Given the description of an element on the screen output the (x, y) to click on. 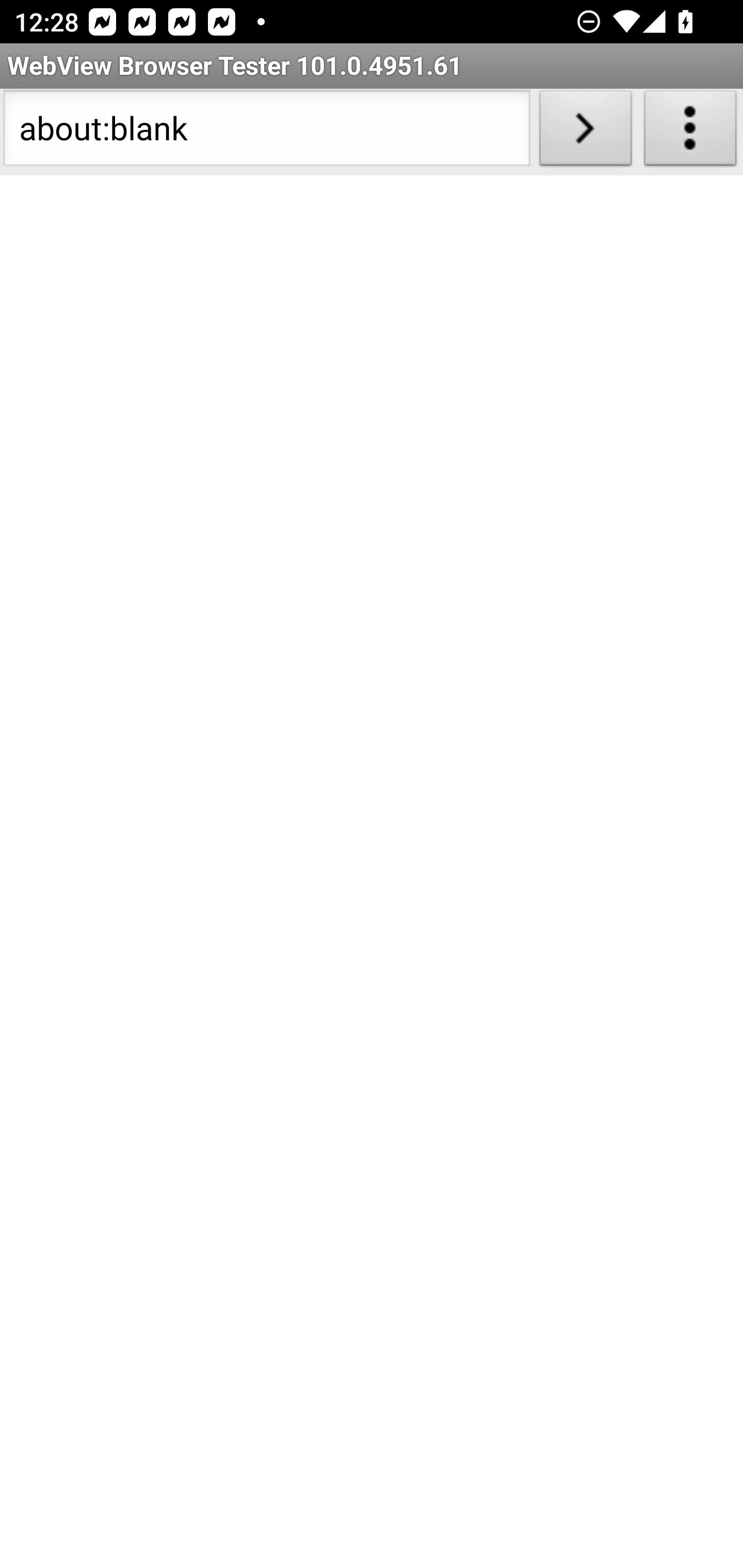
about:blank (266, 132)
Load URL (585, 132)
About WebView (690, 132)
